Given the description of an element on the screen output the (x, y) to click on. 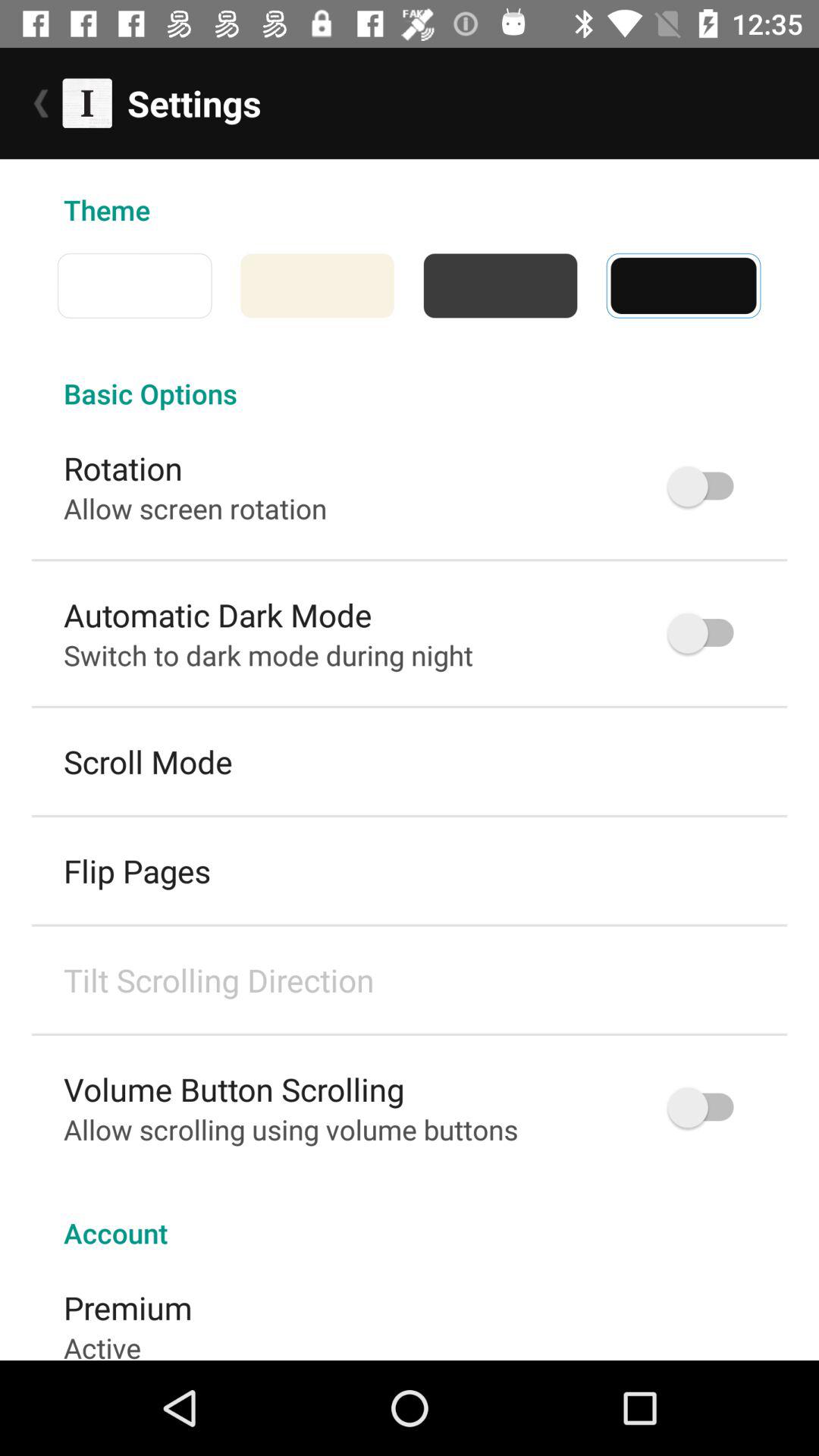
press item above the basic options item (408, 285)
